Given the description of an element on the screen output the (x, y) to click on. 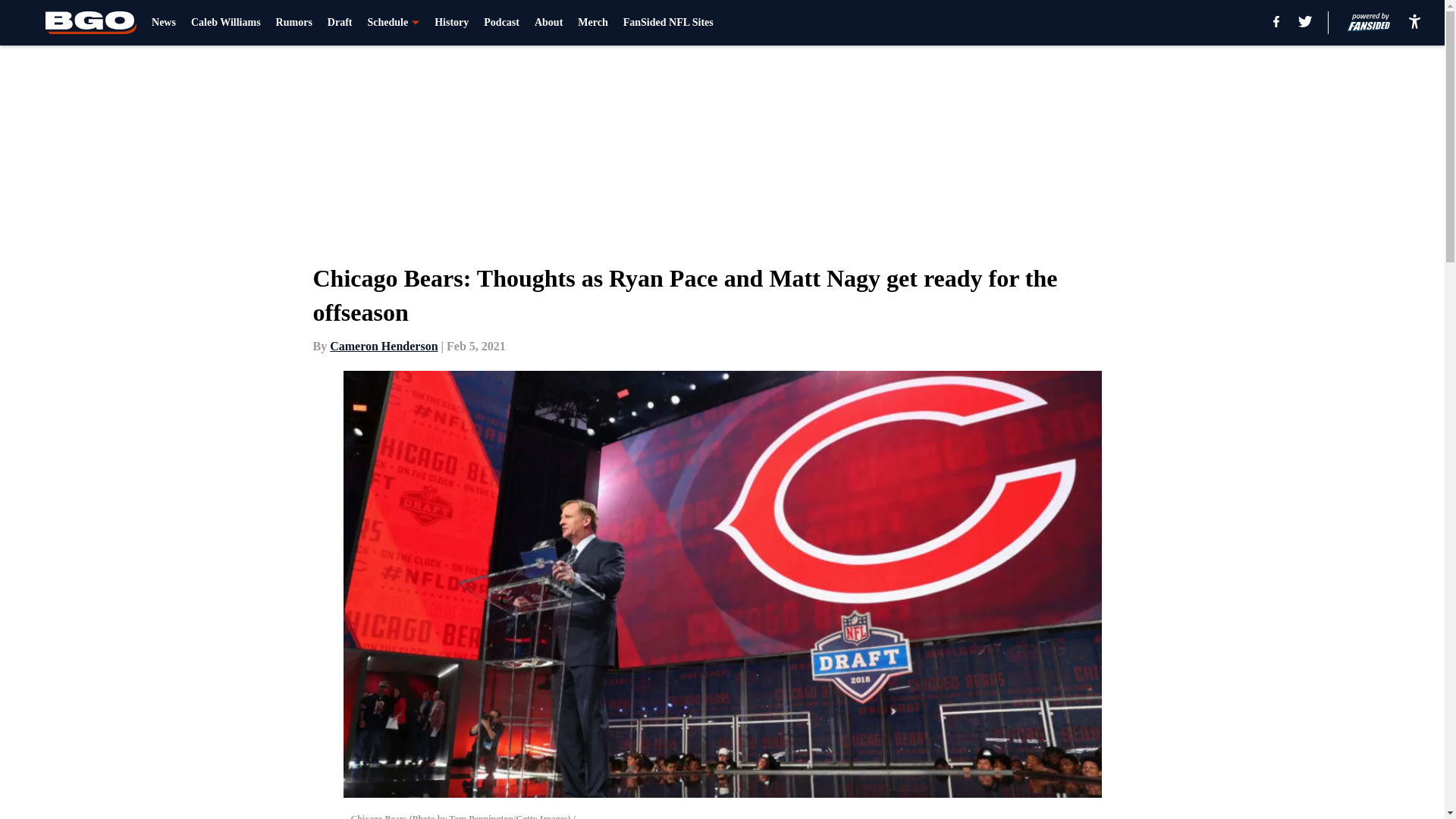
FanSided NFL Sites (668, 22)
Podcast (501, 22)
About (548, 22)
History (450, 22)
Draft (339, 22)
Rumors (294, 22)
News (163, 22)
Merch (592, 22)
Cameron Henderson (384, 345)
Caleb Williams (225, 22)
